Given the description of an element on the screen output the (x, y) to click on. 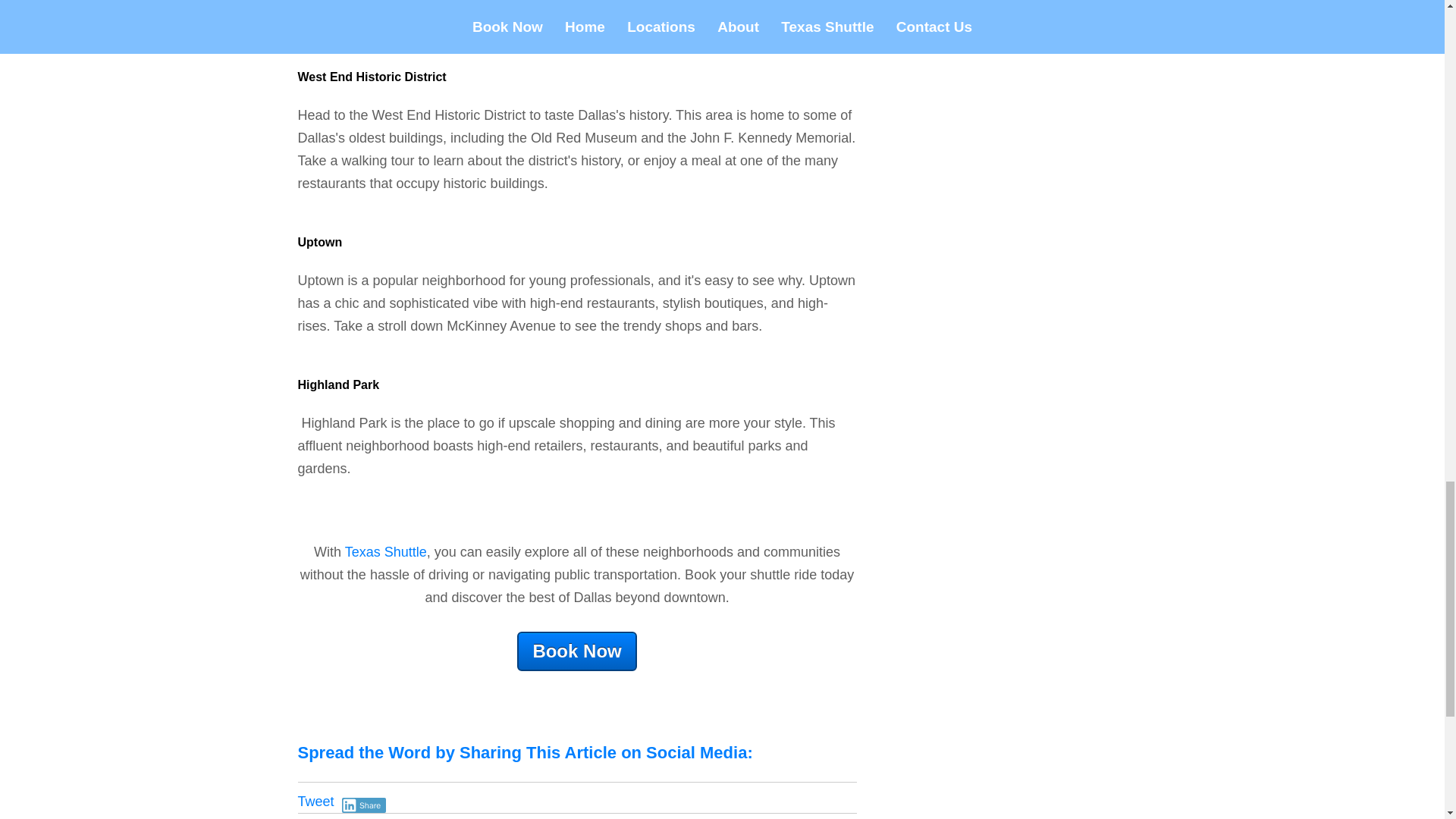
Topic Name (520, 818)
Topic Name (653, 818)
Texas Shuttle (653, 818)
Book Now (576, 650)
Airport Shuttle (386, 818)
Book Now (576, 650)
Texas (819, 818)
Topic Name (819, 818)
Tweet (315, 801)
Winter (585, 818)
Topic Name (386, 818)
Shuttle Service (747, 818)
Topic Name (747, 818)
Topic Name (585, 818)
Texas Shuttle (385, 551)
